Given the description of an element on the screen output the (x, y) to click on. 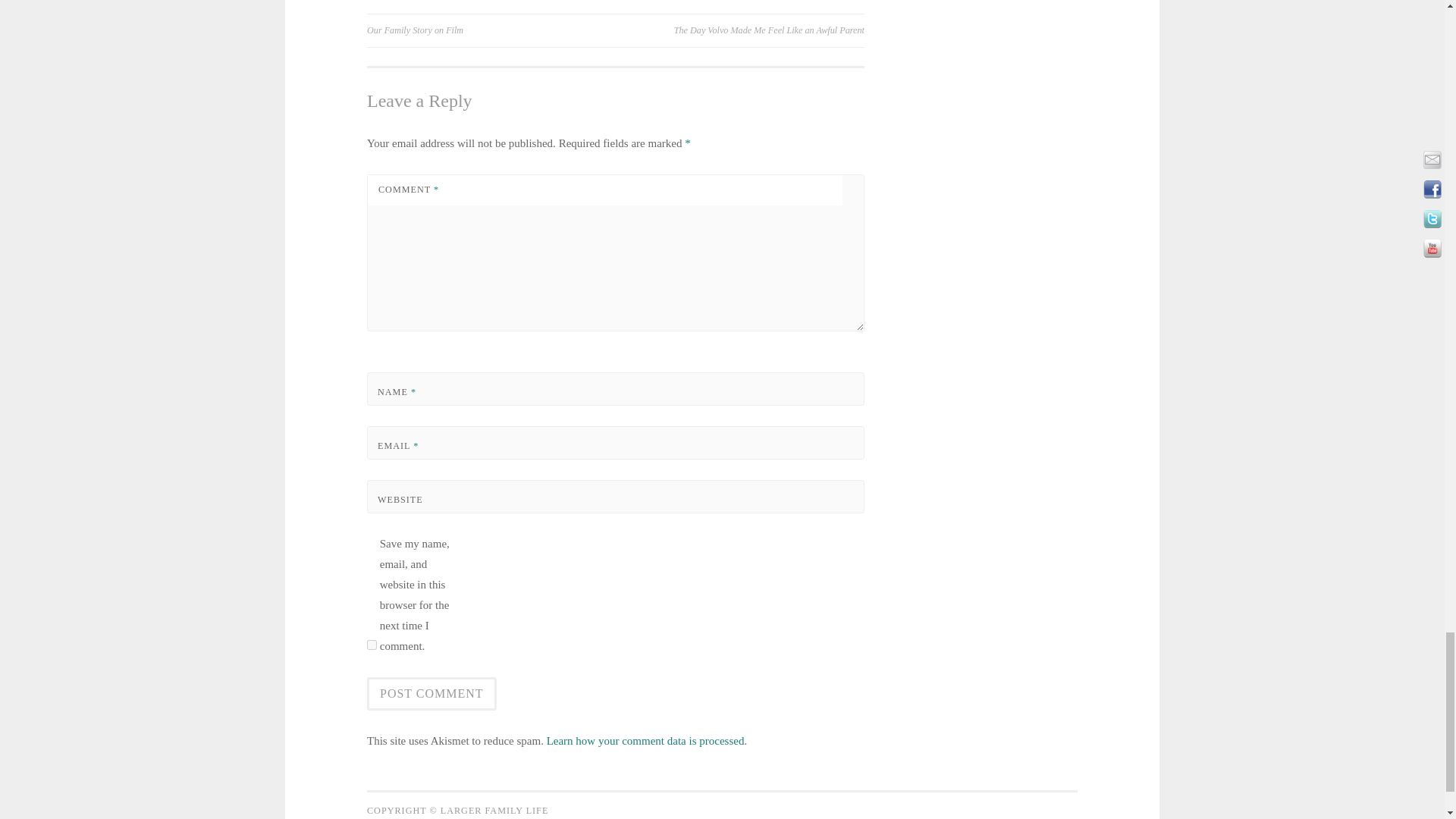
yes (371, 644)
Post Comment (431, 693)
